Given the description of an element on the screen output the (x, y) to click on. 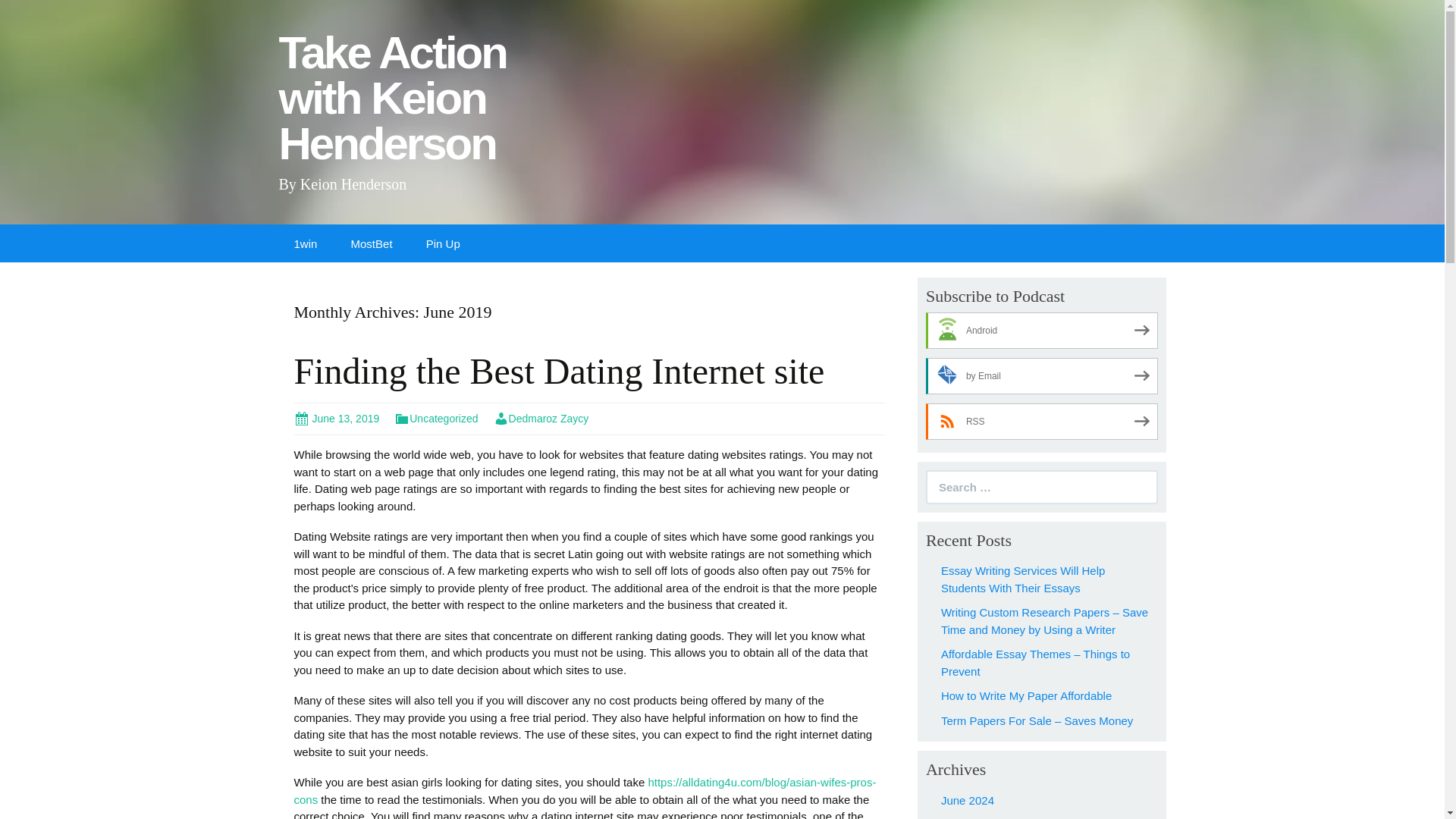
Take Action with Keion Henderson (435, 104)
Dedmaroz Zaycy (435, 104)
June 2024 (541, 418)
Subscribe via RSS (967, 799)
Search (1041, 421)
Search for: (23, 11)
View all posts by Dedmaroz Zaycy (1041, 487)
June 13, 2019 (541, 418)
Uncategorized (337, 418)
How to Write My Paper Affordable (435, 418)
Subscribe by Email (1026, 695)
1win (1041, 375)
by Email (306, 243)
RSS (1041, 375)
